Given the description of an element on the screen output the (x, y) to click on. 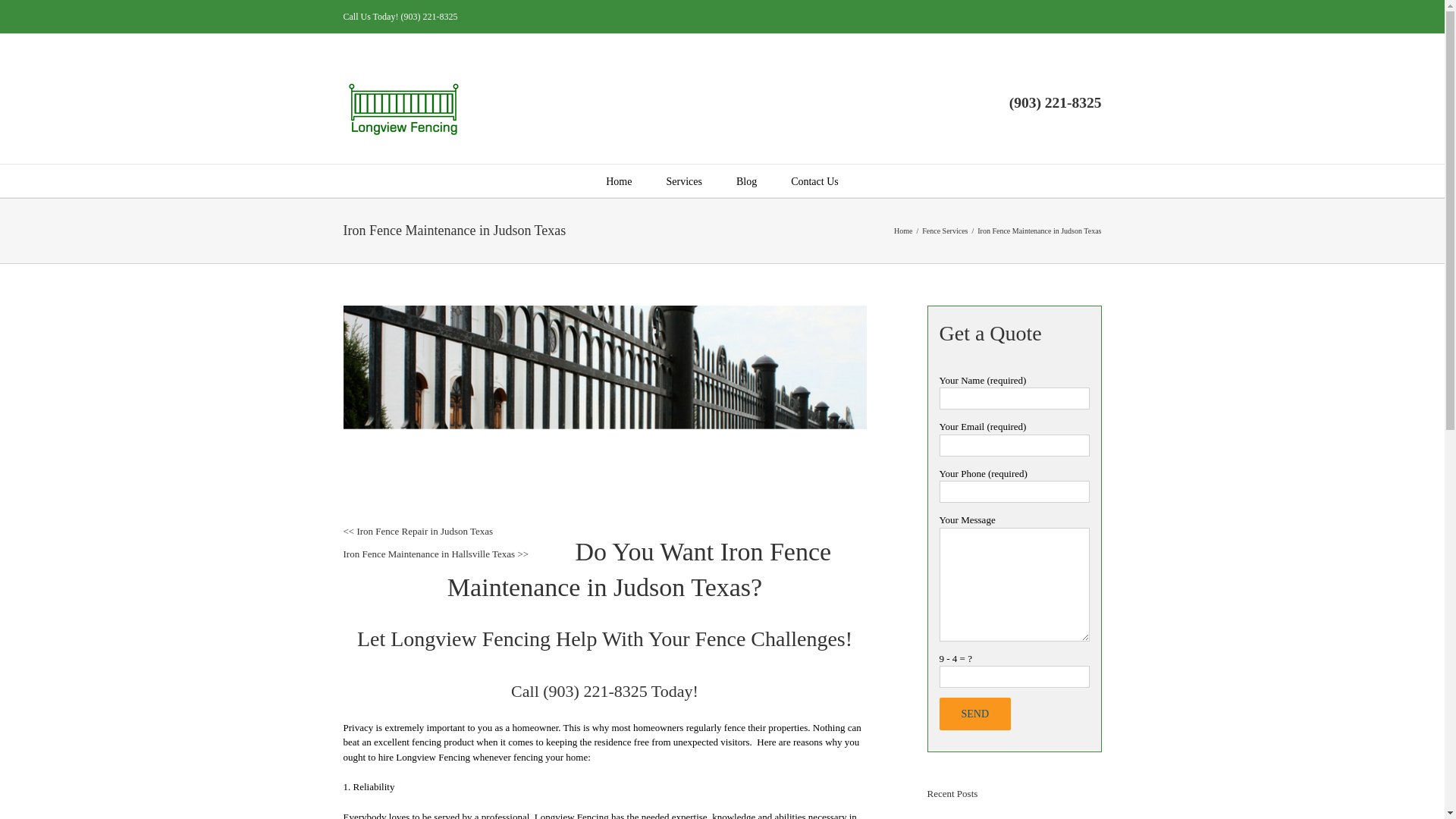
Iron Fence Maintenance (638, 569)
Home (902, 230)
Services (683, 180)
Fence Services (944, 230)
Send (974, 713)
Contact Us (814, 180)
Send (974, 713)
